Given the description of an element on the screen output the (x, y) to click on. 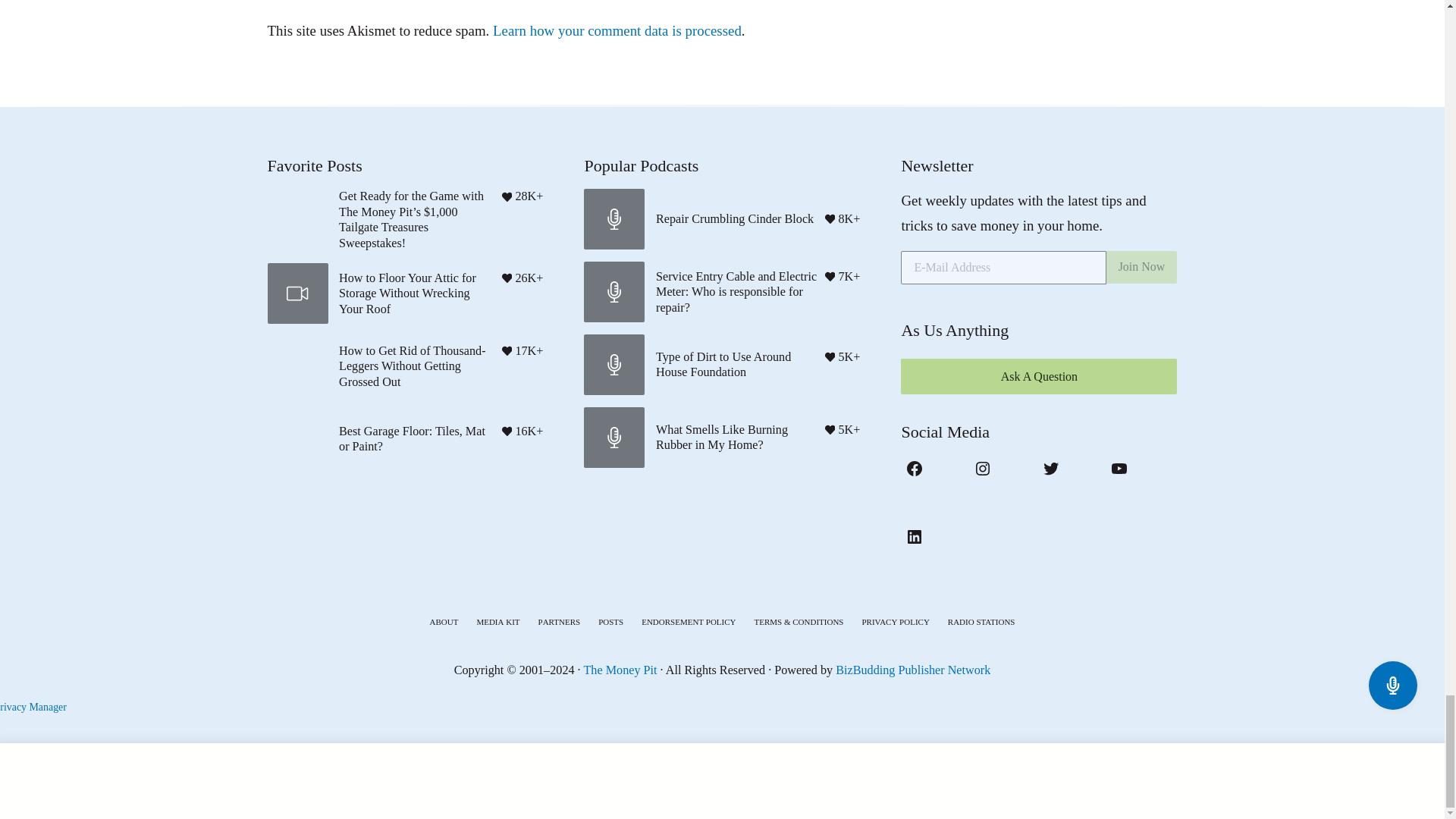
Join Now (1141, 266)
